Given the description of an element on the screen output the (x, y) to click on. 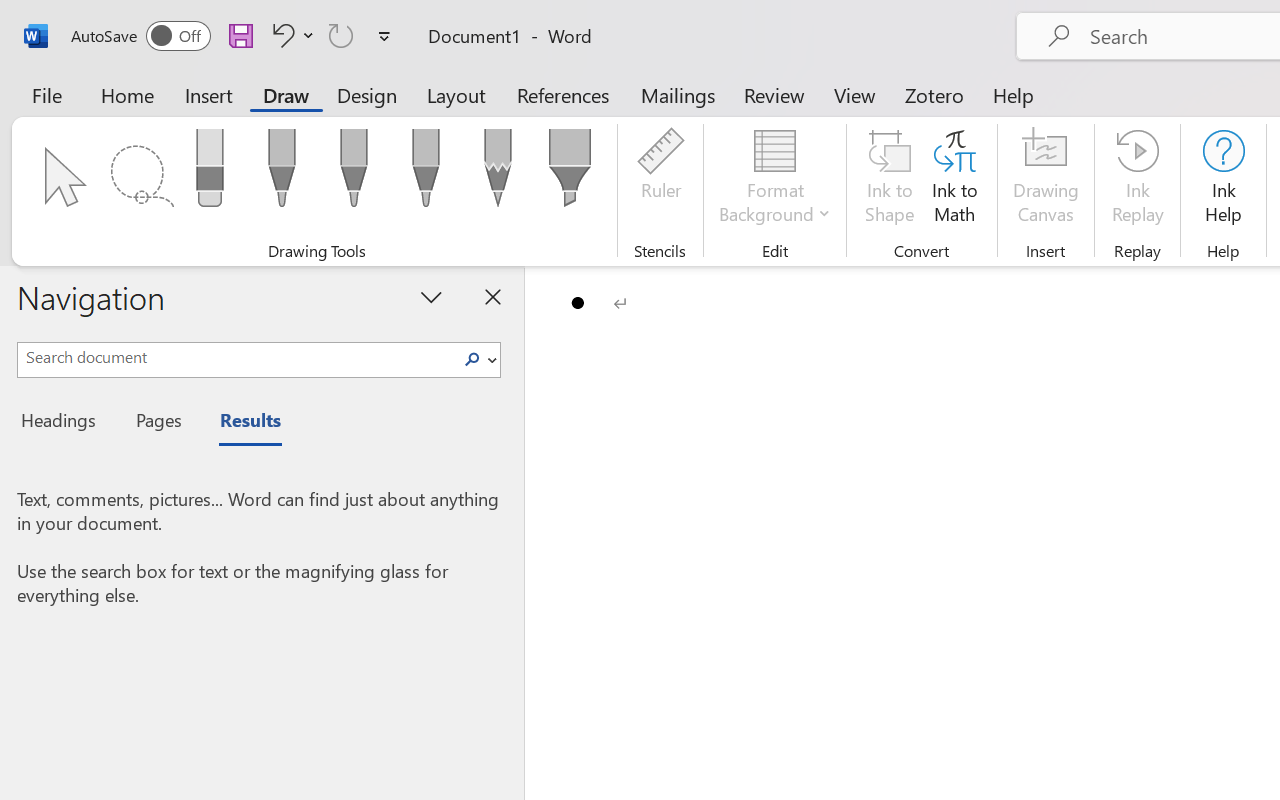
Results (240, 423)
Ink Replay (1137, 179)
Undo Bullet Default (290, 35)
Pen: Red, 0.5 mm (353, 173)
Format Background (774, 179)
Pen: Black, 0.5 mm (281, 173)
Search document (236, 357)
